Given the description of an element on the screen output the (x, y) to click on. 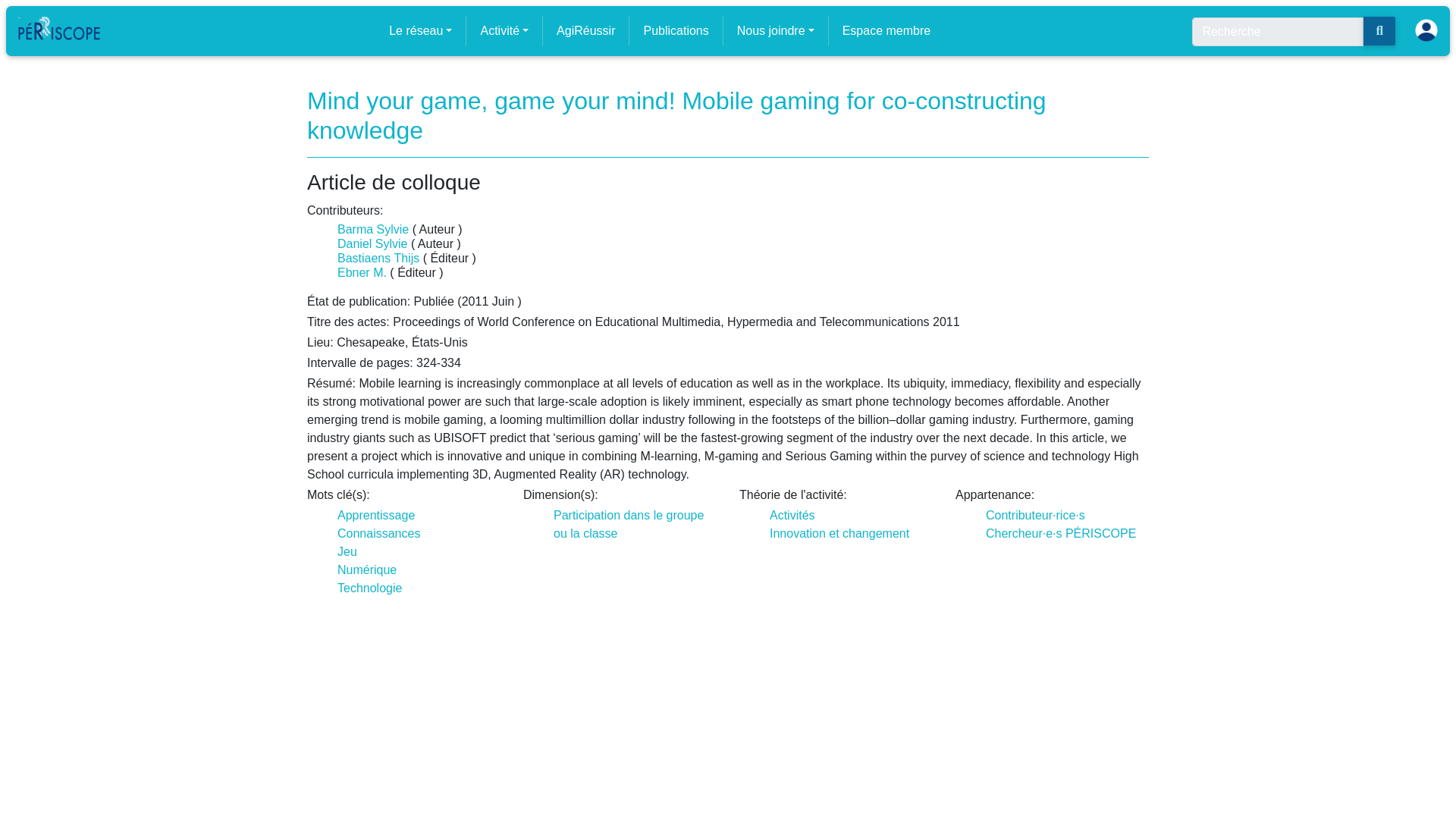
Barma Sylvie (373, 228)
Publications (675, 30)
Apprentissage (375, 514)
Daniel Sylvie (372, 243)
Nous joindre (775, 30)
Espace membre (886, 30)
Bastiaens Thijs (378, 257)
Ebner M. (362, 272)
